Given the description of an element on the screen output the (x, y) to click on. 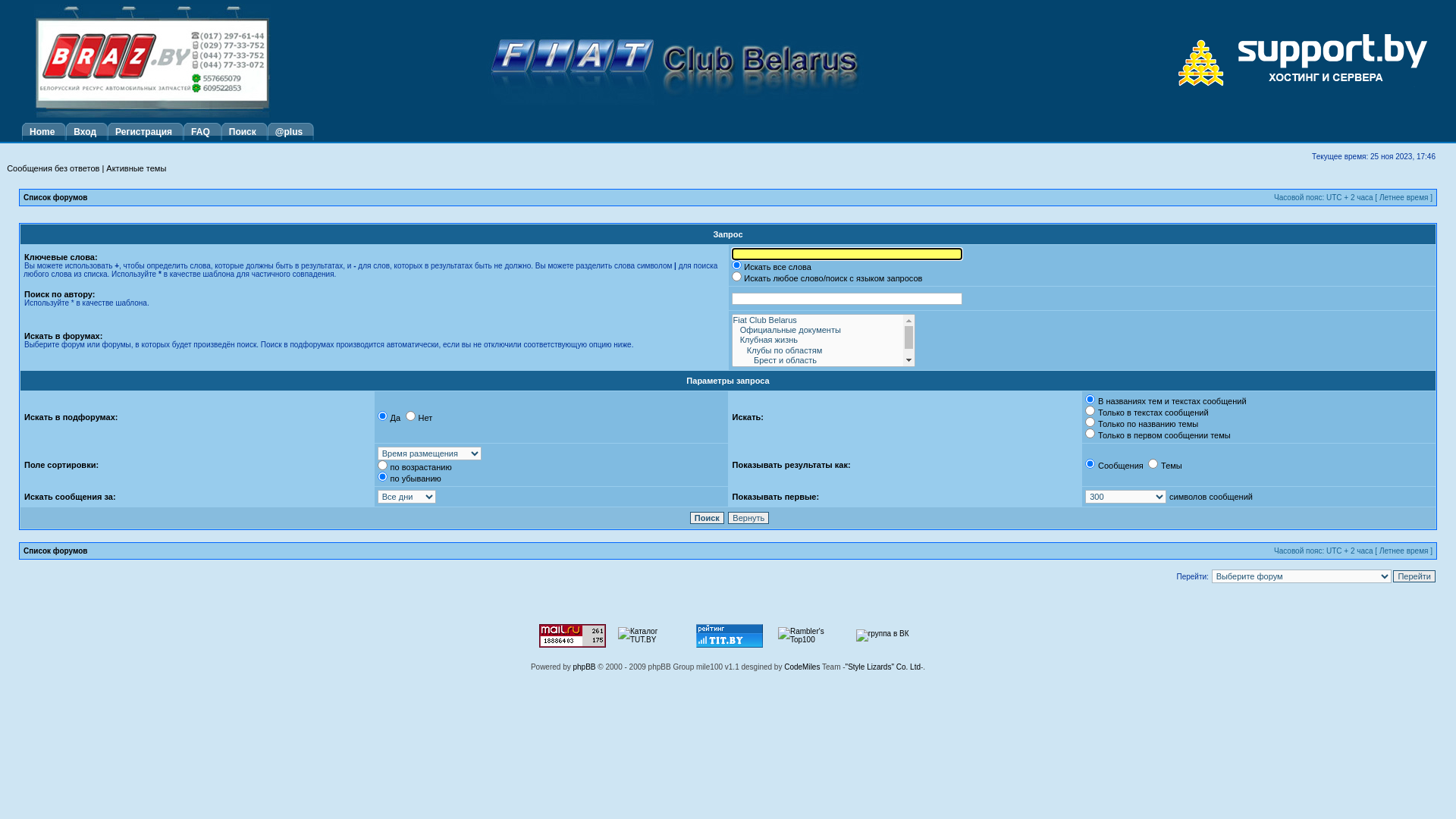
phpBB Element type: text (584, 666)
CodeMiles Element type: text (801, 666)
FAQ Element type: text (202, 131)
"Style Lizards" Co. Ltd Element type: text (882, 666)
Home Element type: text (43, 131)
@plus Element type: text (290, 131)
